Given the description of an element on the screen output the (x, y) to click on. 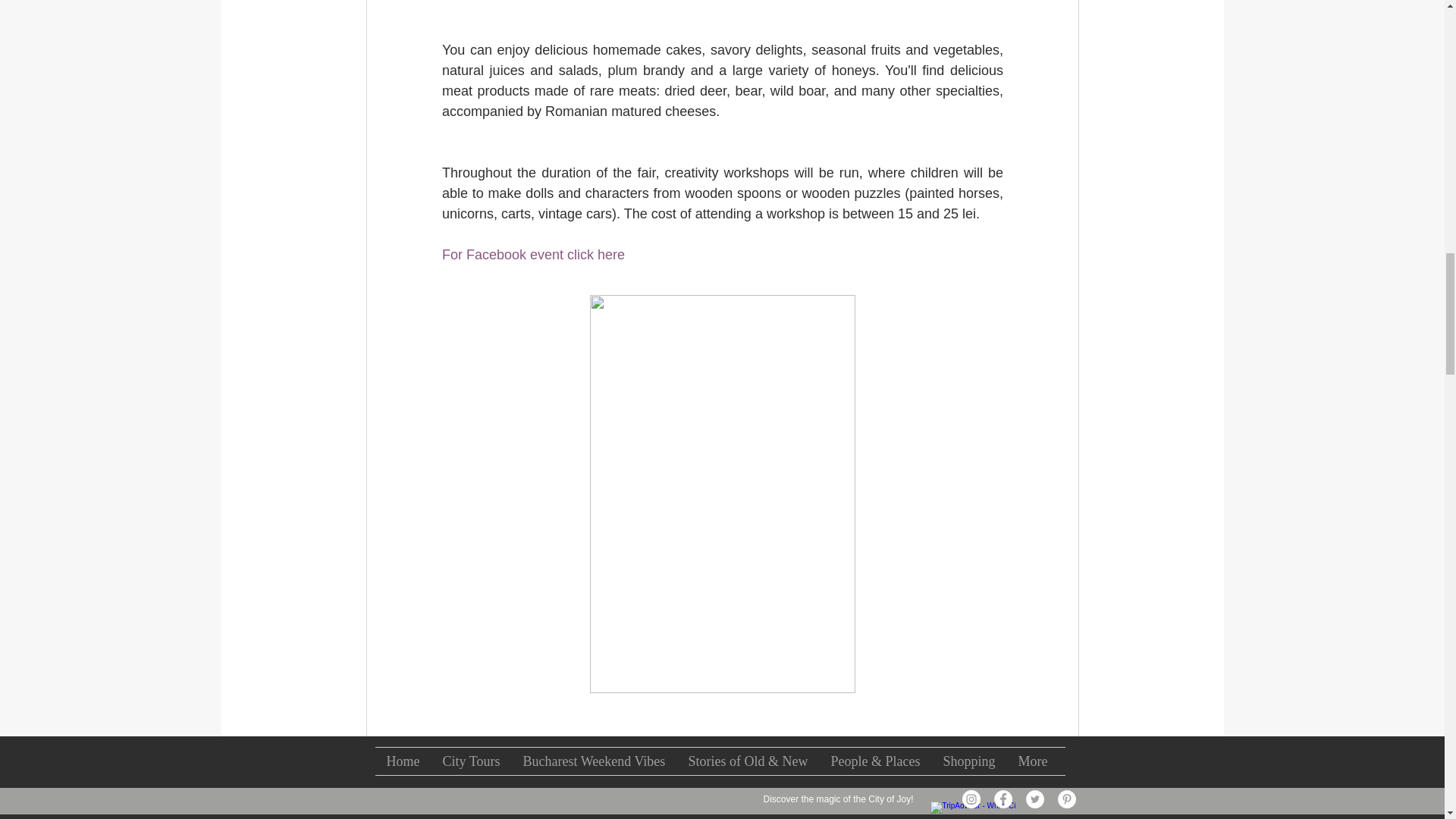
Titan Park (678, 793)
For Facebook event click here (532, 254)
